Given the description of an element on the screen output the (x, y) to click on. 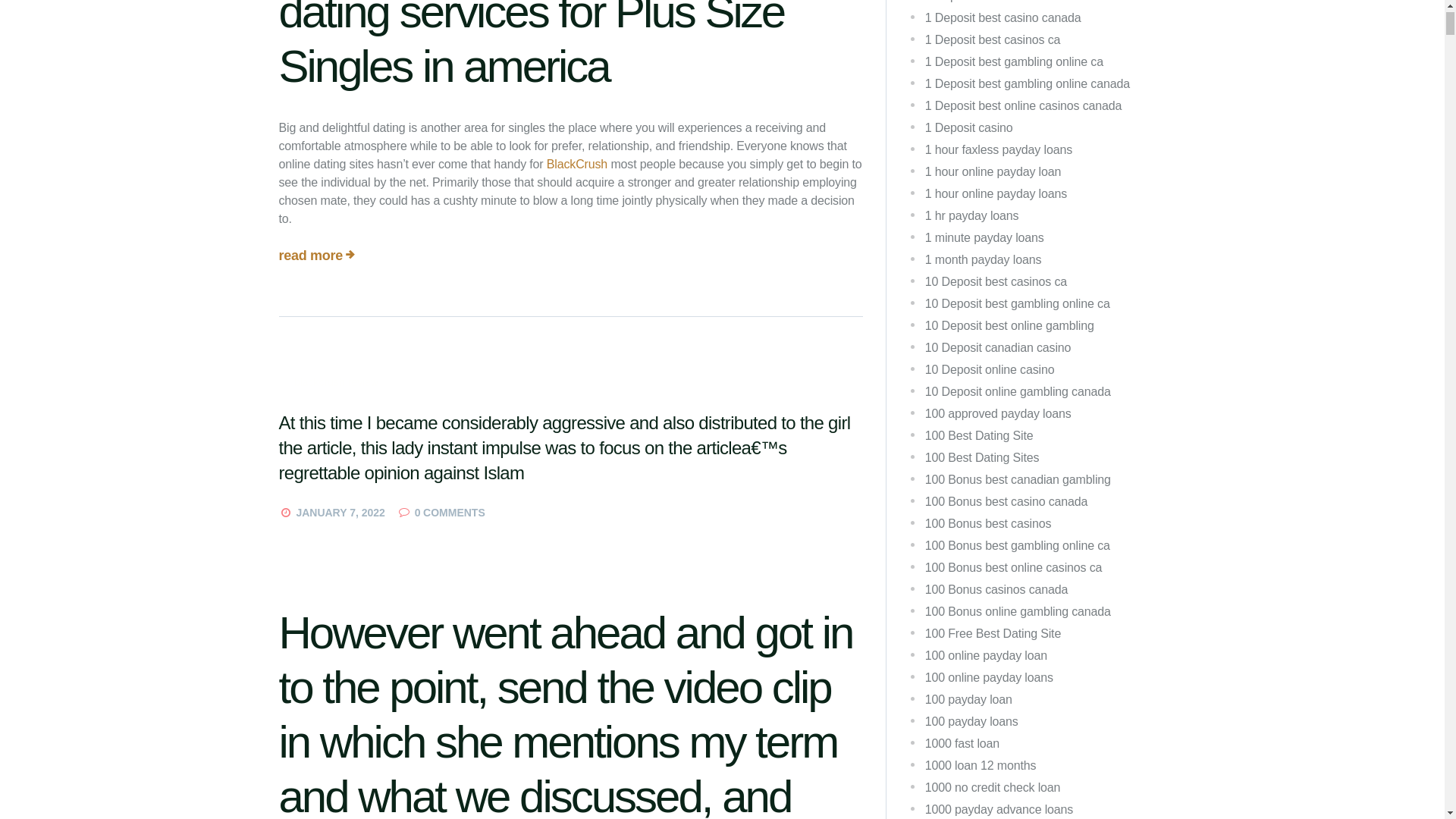
blackcrush review (336, 381)
JANUARY 7, 2022 (340, 512)
0COMMENTS (441, 512)
read more (310, 255)
BlackCrush (577, 164)
